Given the description of an element on the screen output the (x, y) to click on. 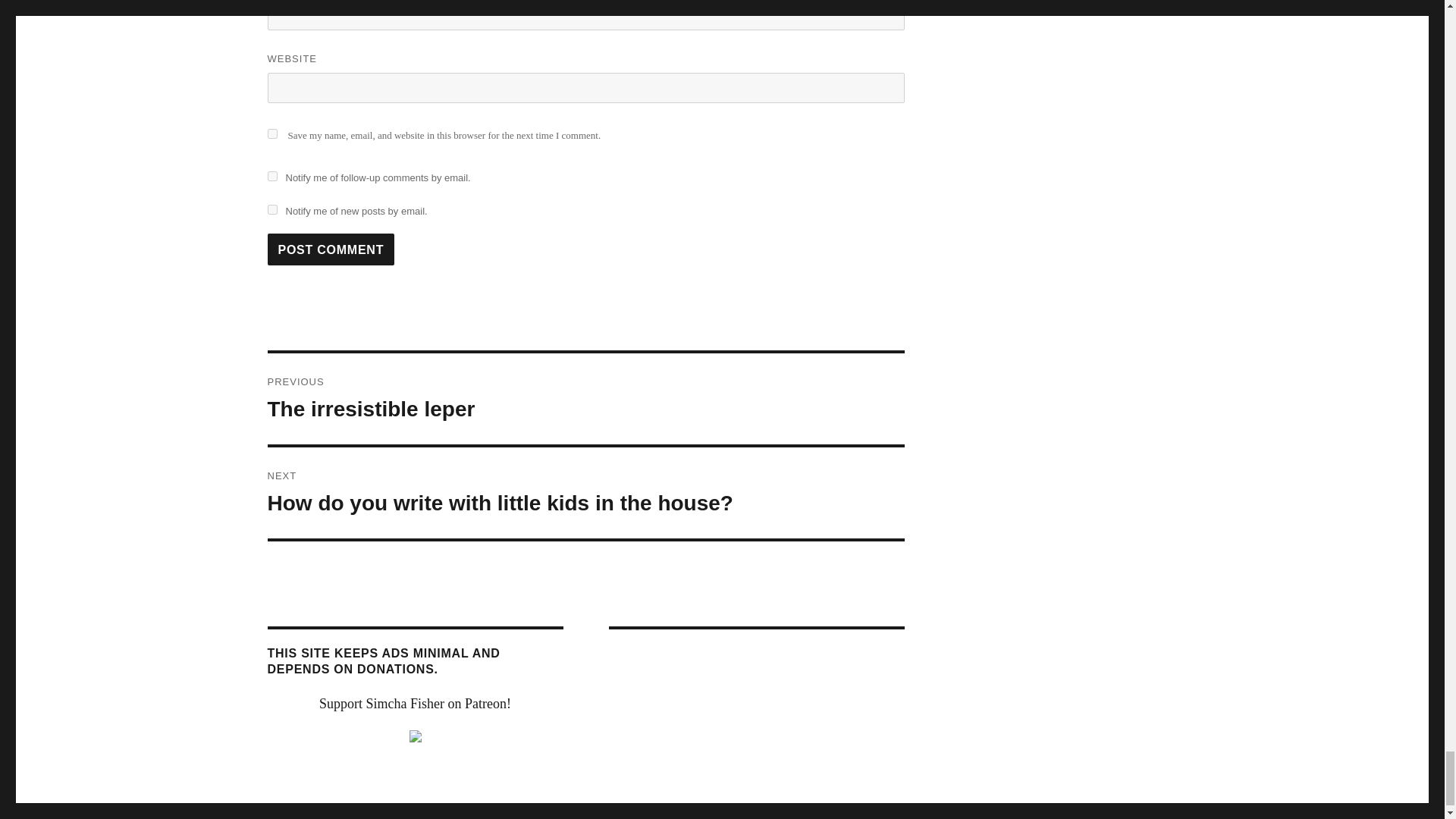
subscribe (271, 175)
Post Comment (330, 249)
subscribe (271, 209)
yes (271, 133)
